Given the description of an element on the screen output the (x, y) to click on. 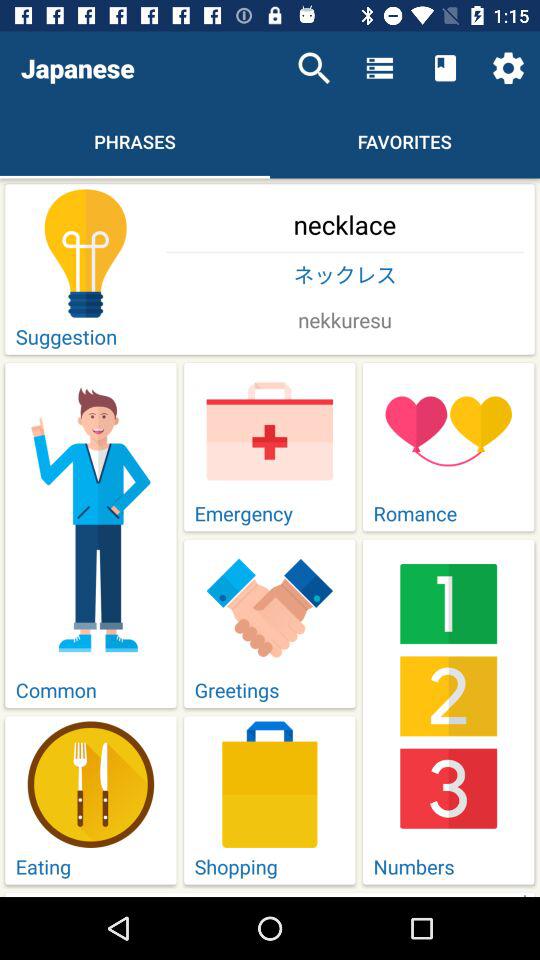
click item above the necklace (313, 67)
